Given the description of an element on the screen output the (x, y) to click on. 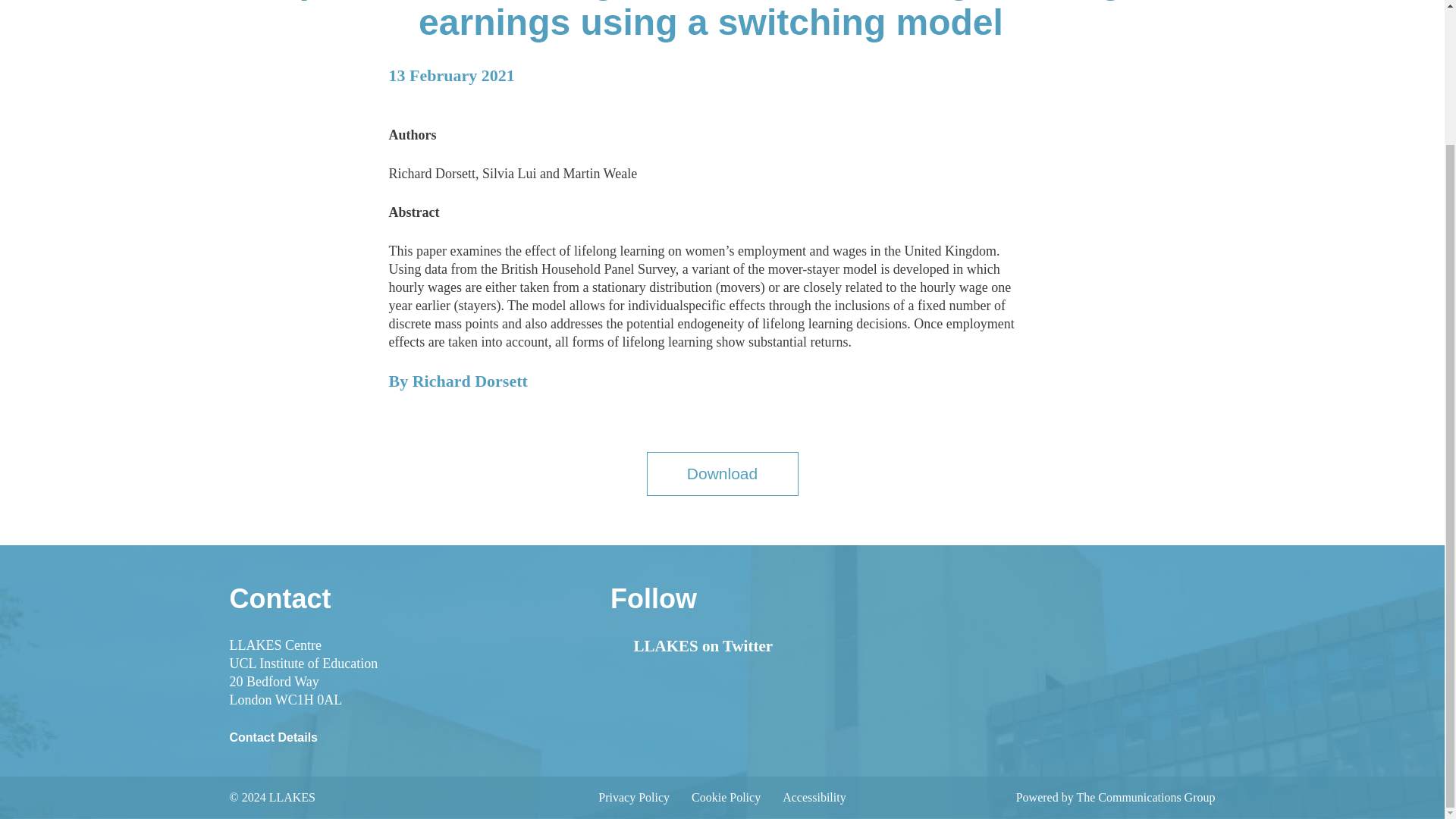
By Richard Dorsett (457, 388)
Accessibility (814, 797)
Powered by The Communications Group (1115, 797)
Cookie Policy (725, 797)
LLAKES on Twitter (691, 646)
Download (721, 474)
Privacy Policy (633, 797)
Contact Details (272, 737)
